Given the description of an element on the screen output the (x, y) to click on. 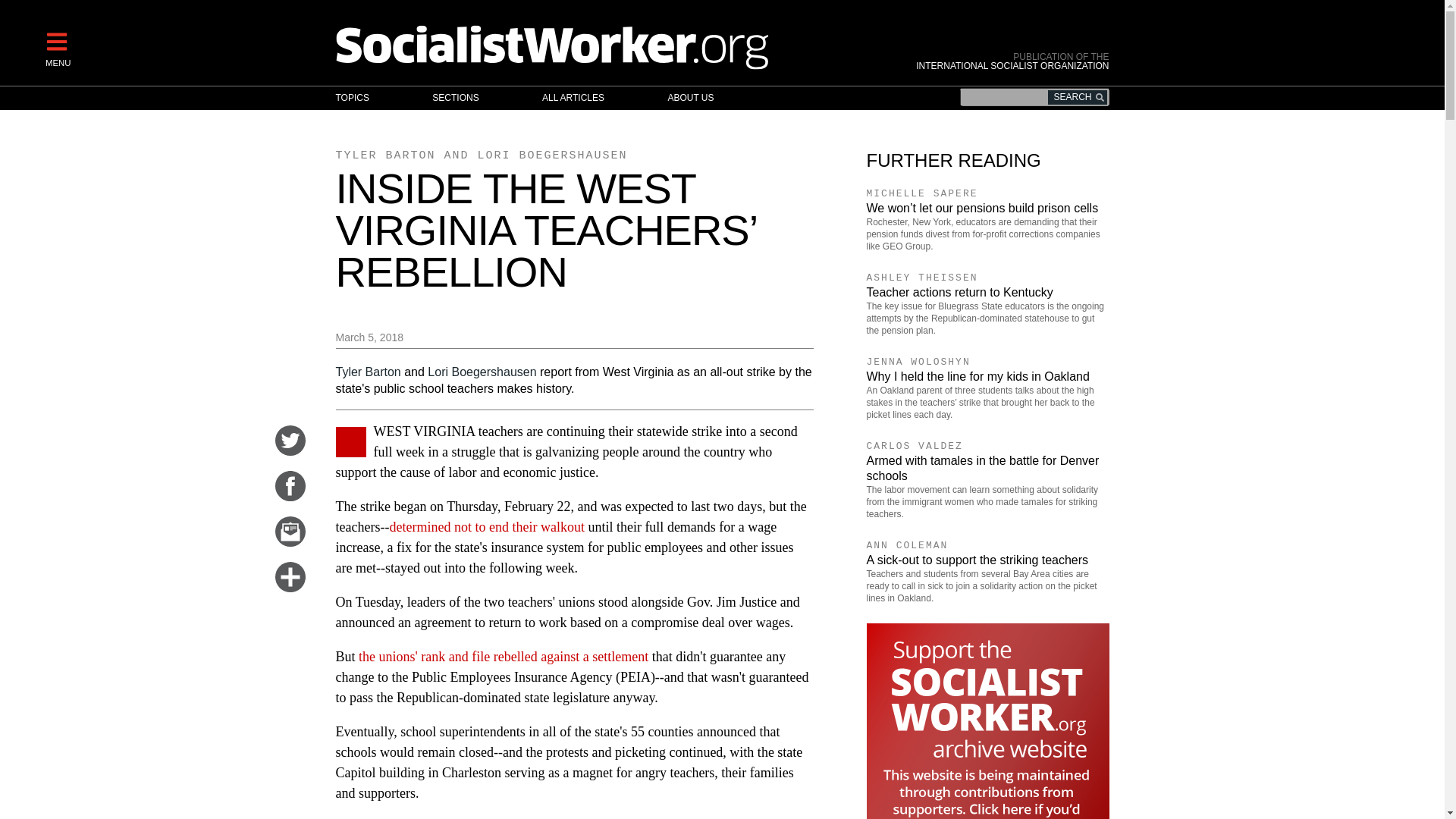
Share on Facebook (289, 496)
Click for more options (289, 587)
Search (1077, 97)
TOPICS (366, 97)
Home (616, 46)
Enter the terms you wish to search for. (1034, 96)
Share on Twitter (289, 450)
Email this story (289, 541)
